Given the description of an element on the screen output the (x, y) to click on. 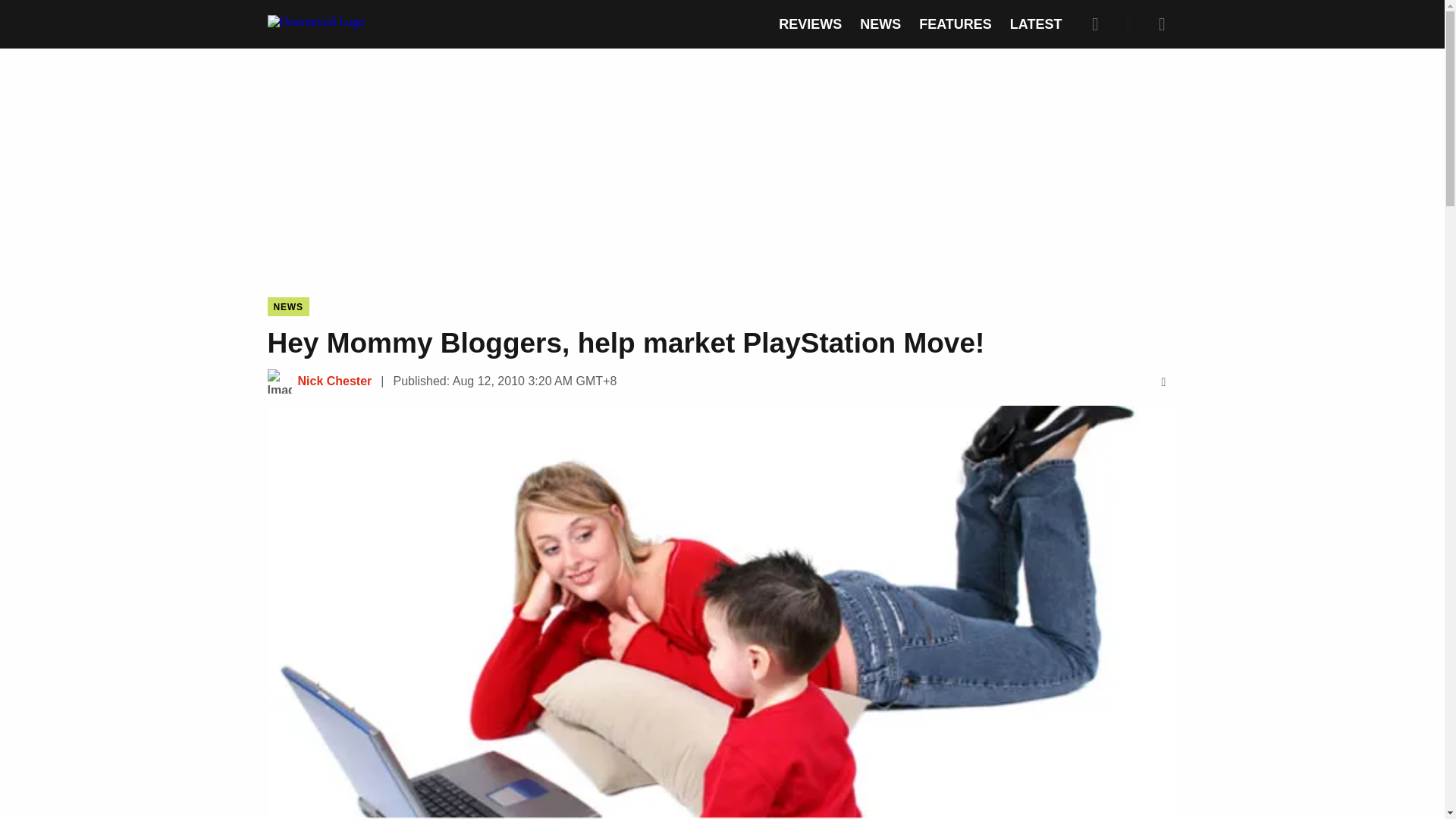
FEATURES (954, 23)
Dark Mode (1127, 24)
Expand Menu (1161, 24)
NEWS (880, 23)
Search (1094, 24)
LATEST (1036, 23)
NEWS (287, 306)
REVIEWS (809, 23)
